Given the description of an element on the screen output the (x, y) to click on. 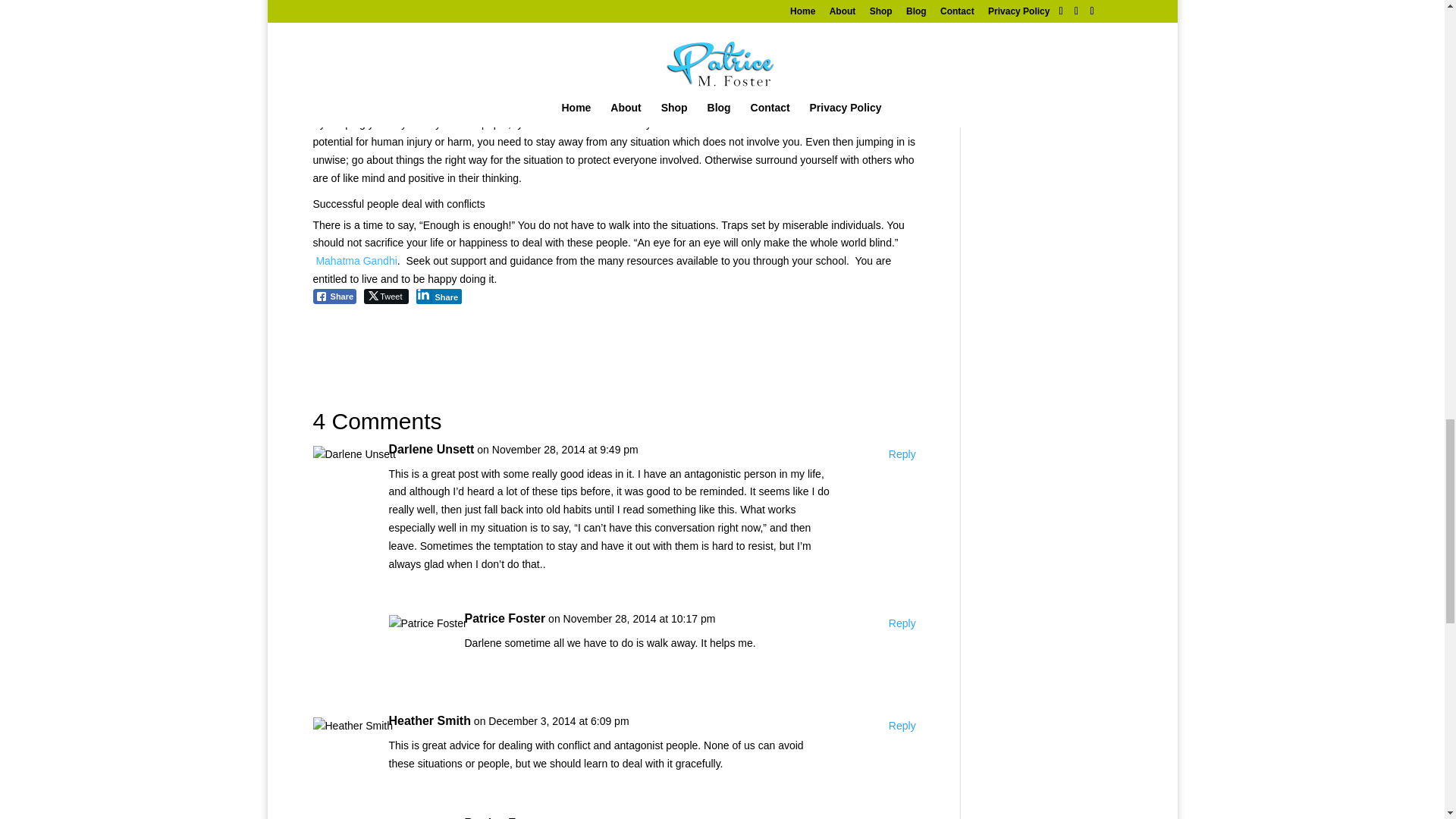
Tweet (385, 296)
Share (334, 296)
Share (437, 296)
Patrice Foster (504, 816)
Reply (901, 624)
Patrice Foster (504, 618)
Reply (901, 726)
Reply (901, 454)
Mahatma Gandhi (355, 260)
